Given the description of an element on the screen output the (x, y) to click on. 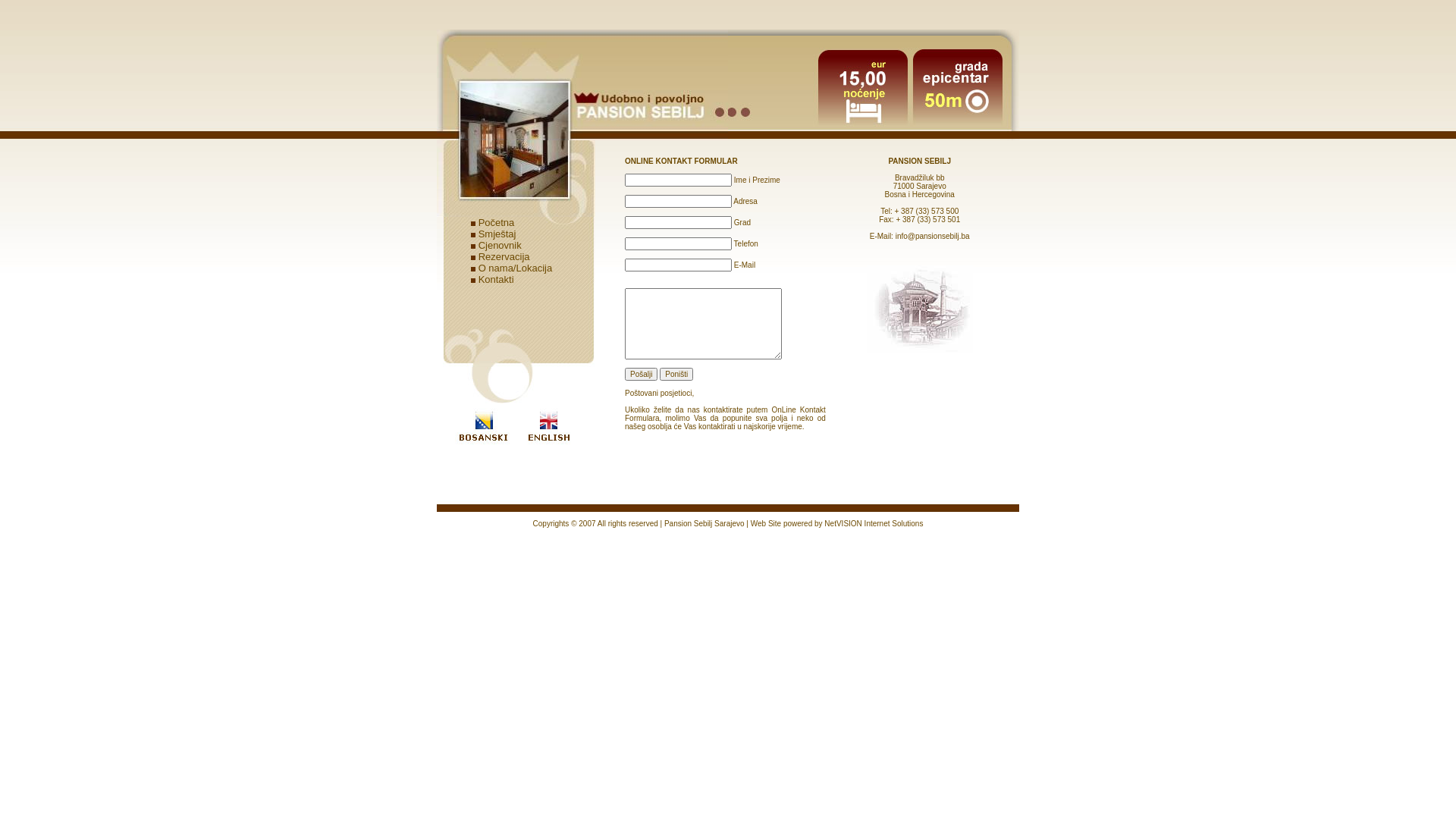
Kontakti Element type: text (496, 279)
O nama/Lokacija Element type: text (515, 267)
Rezervacija Element type: text (504, 256)
Web Site powered by NetVISION Internet Solutions Element type: text (836, 522)
Cjenovnik Element type: text (499, 245)
